Given the description of an element on the screen output the (x, y) to click on. 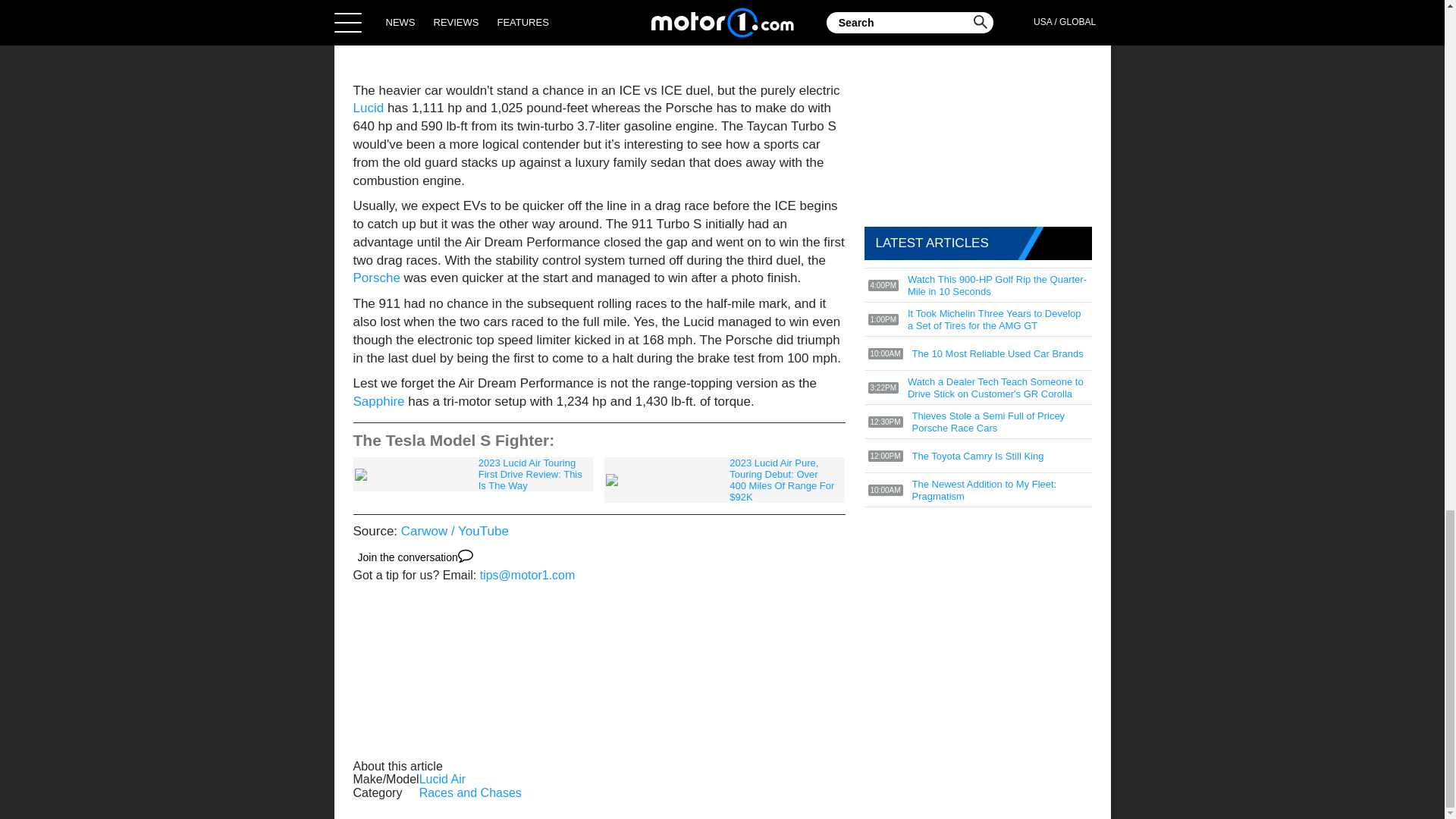
Lucid (370, 107)
Sapphire (381, 400)
Porsche (378, 278)
2023 Lucid Air Touring First Drive Review: This Is The Way (473, 474)
